Given the description of an element on the screen output the (x, y) to click on. 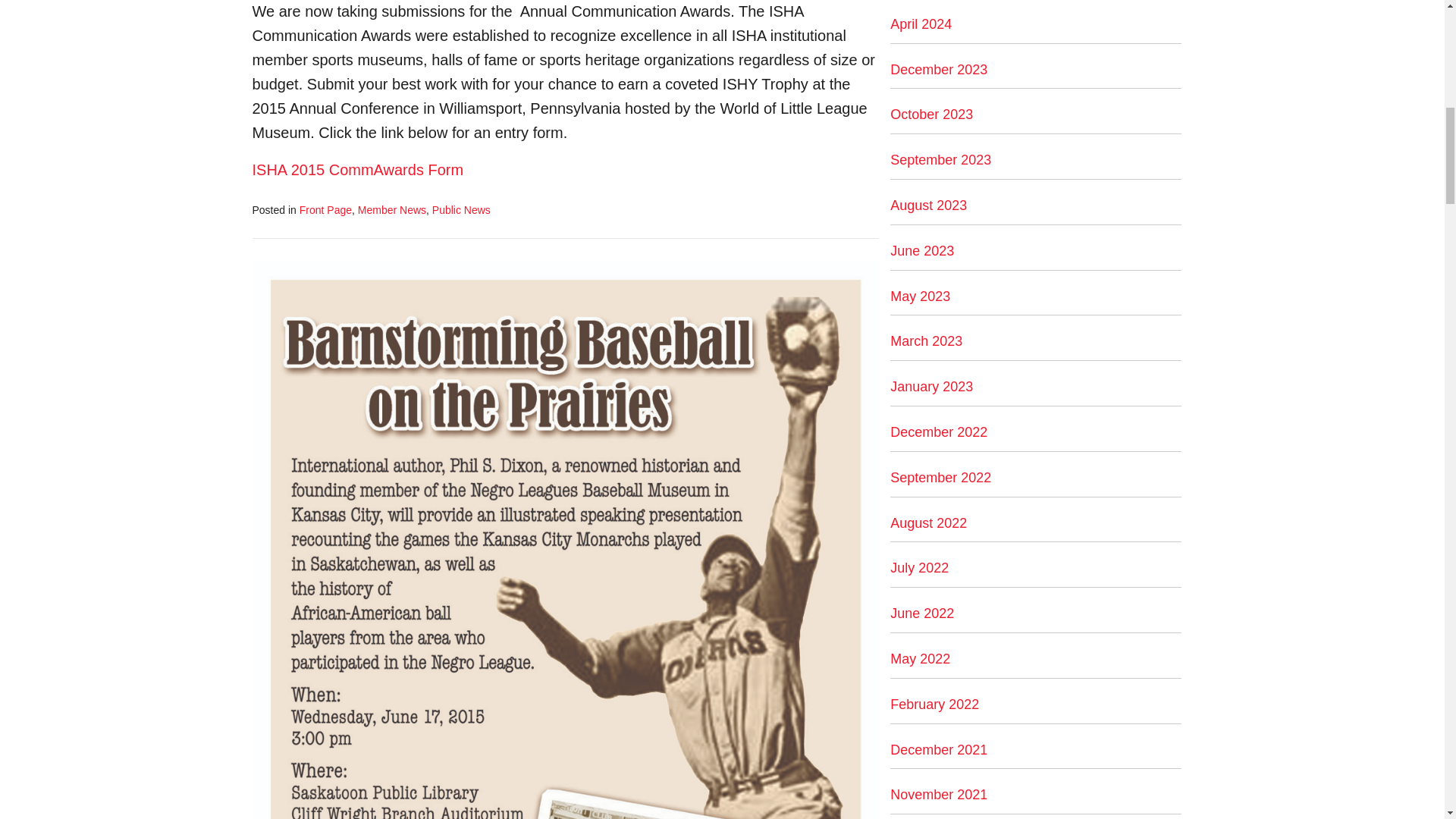
Member News (392, 209)
April 2024 (920, 23)
Public News (461, 209)
August 2023 (927, 205)
September 2023 (940, 159)
ISHA 2015 CommAwards Form (357, 169)
December 2023 (938, 69)
October 2023 (930, 114)
Front Page (325, 209)
